Given the description of an element on the screen output the (x, y) to click on. 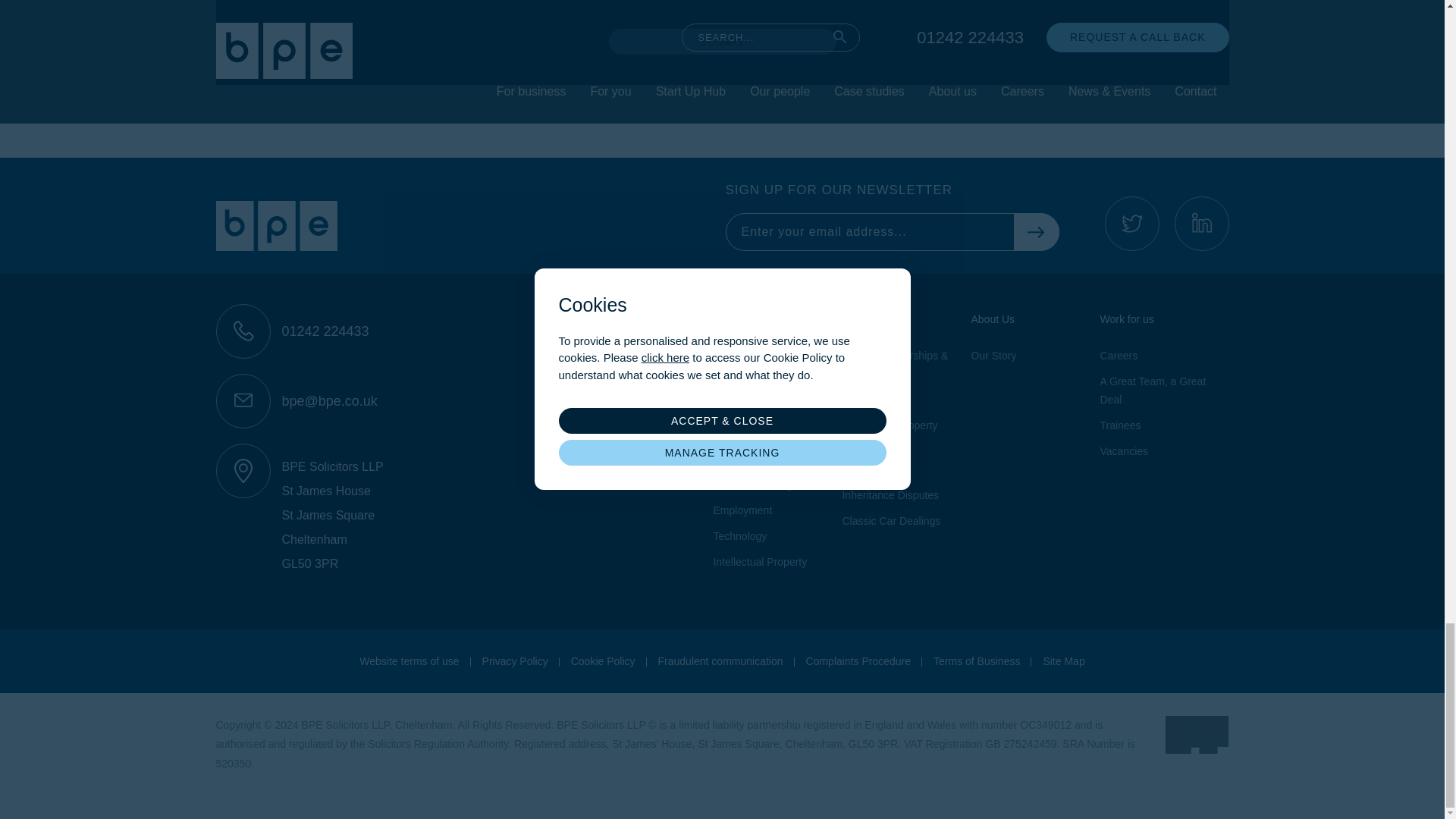
Submit (721, 41)
